Given the description of an element on the screen output the (x, y) to click on. 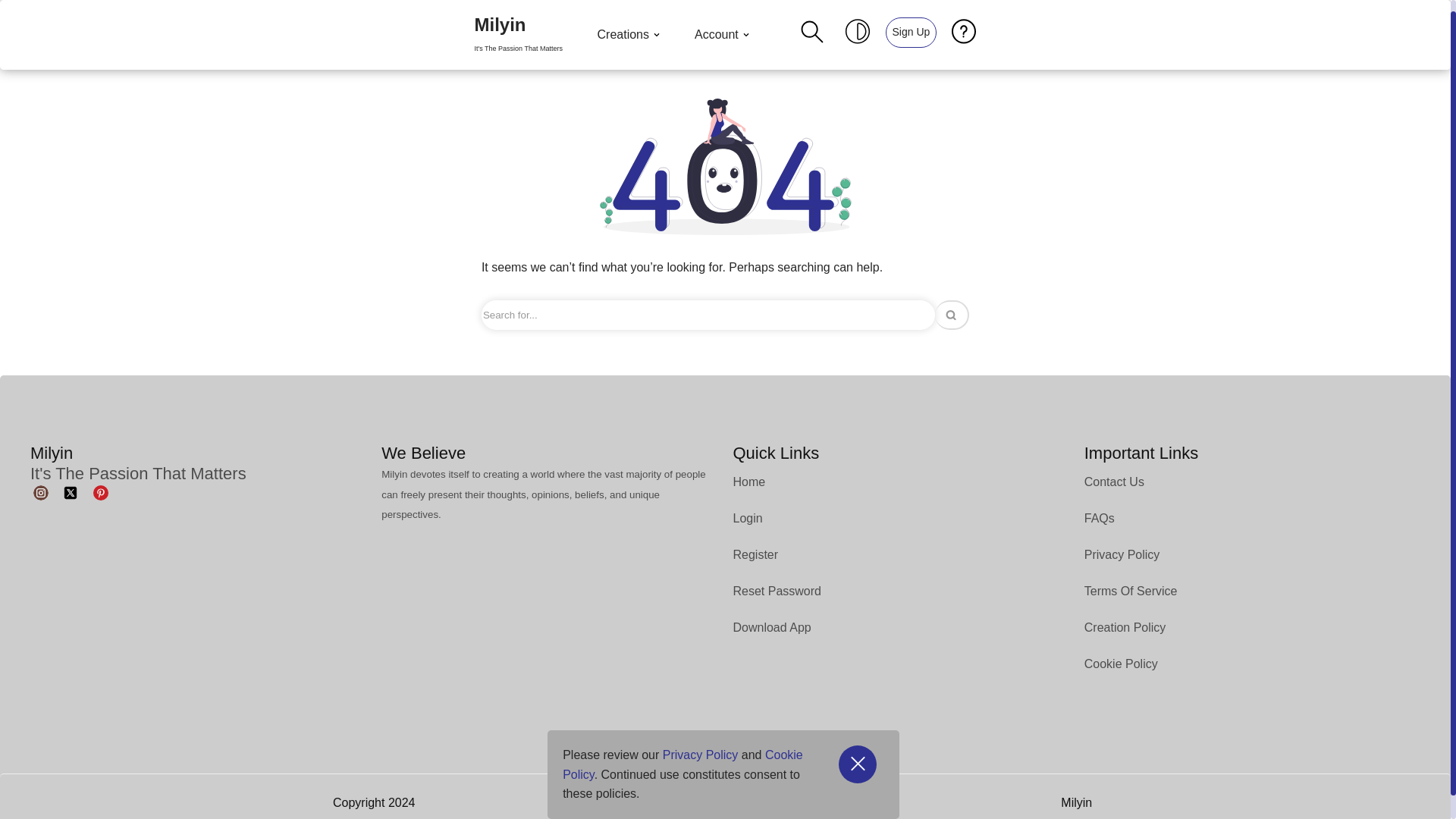
Sign Up (911, 32)
Sign Up (910, 31)
Creations (629, 35)
Milyin (518, 34)
Skip to content (11, 31)
Account (724, 35)
